Given the description of an element on the screen output the (x, y) to click on. 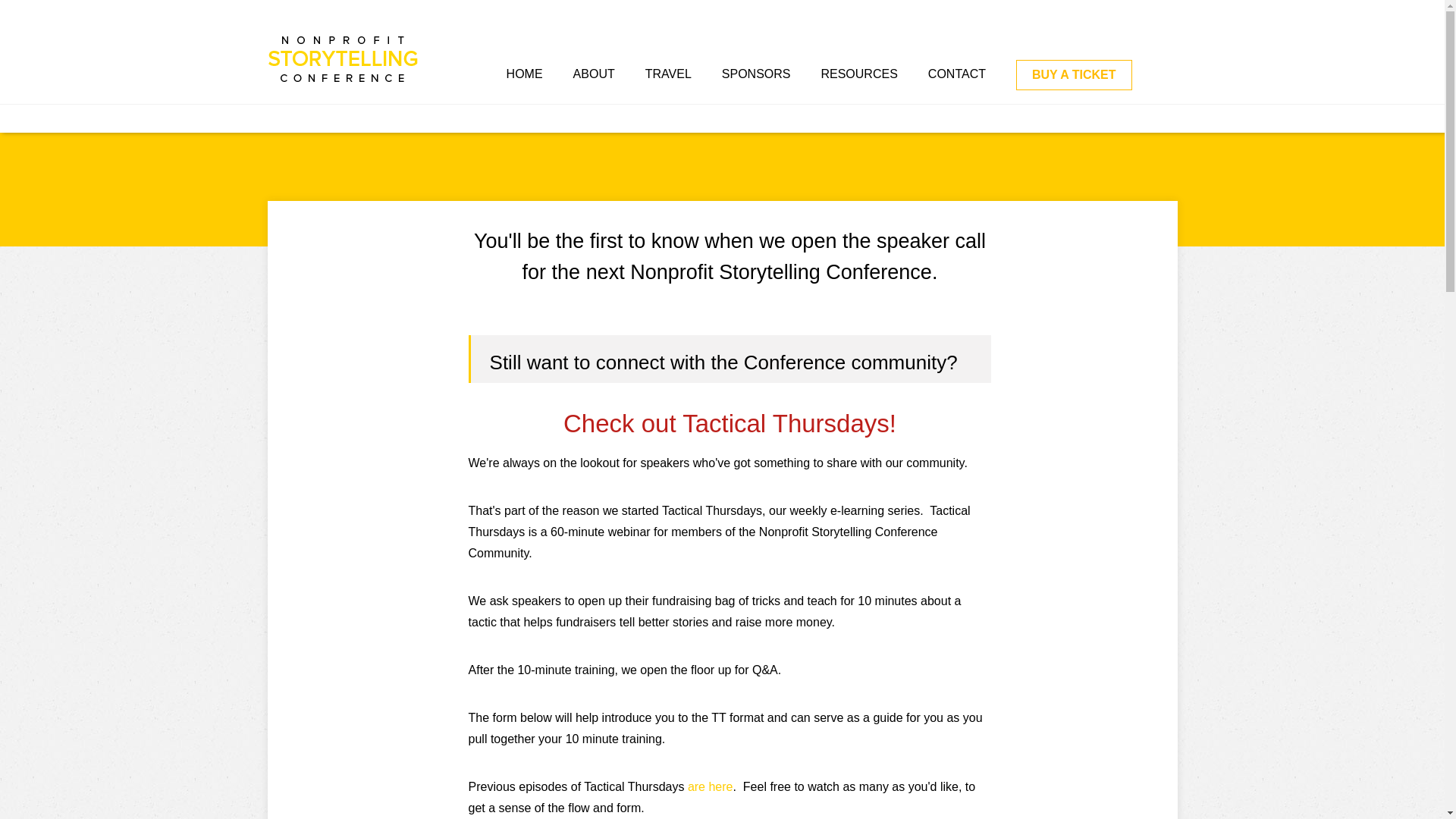
SPONSORS (756, 74)
RESOURCES (858, 74)
TRAVEL (668, 74)
HOME (524, 74)
ABOUT (593, 74)
